Given the description of an element on the screen output the (x, y) to click on. 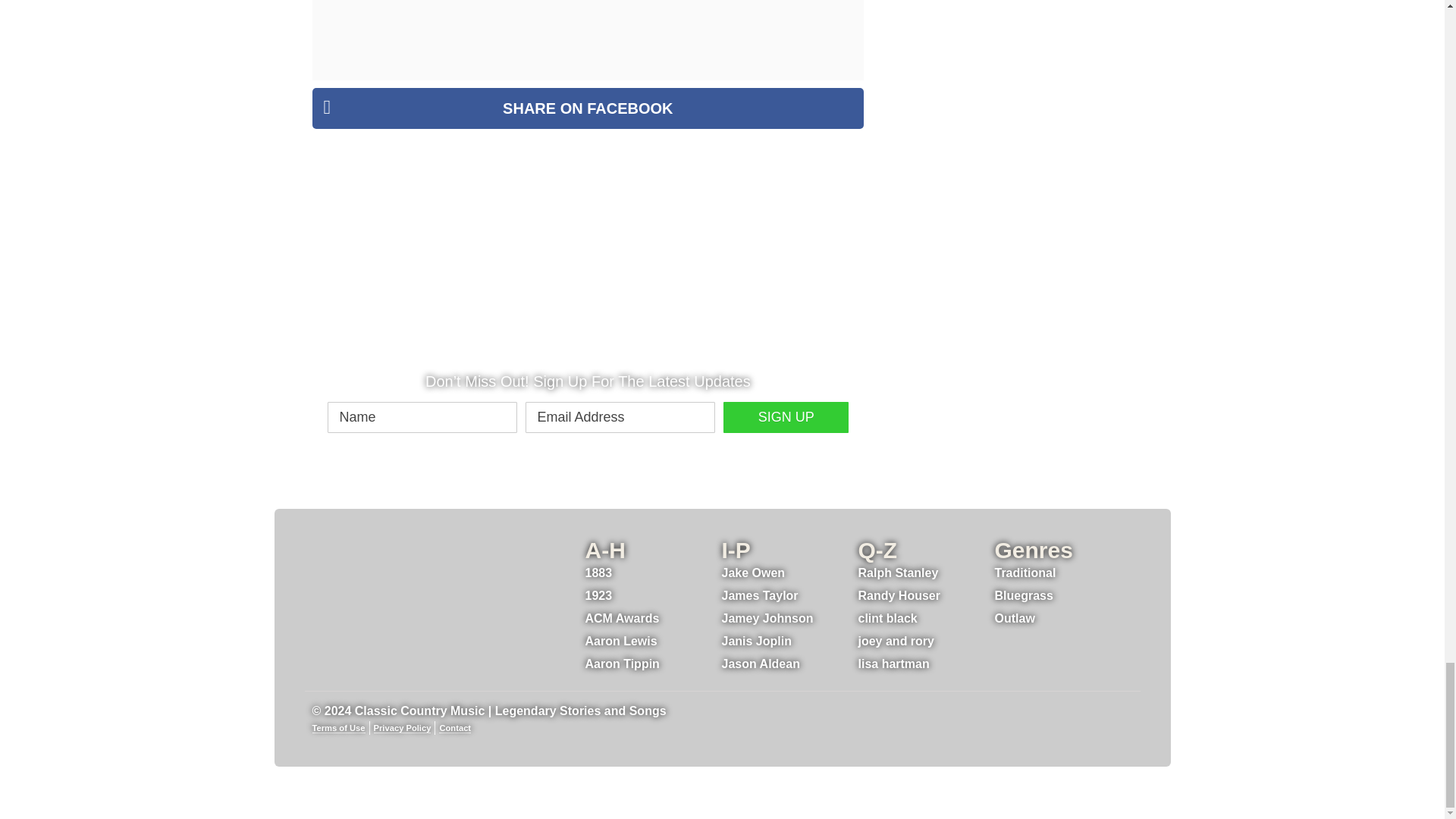
Sign Up (785, 417)
